Given the description of an element on the screen output the (x, y) to click on. 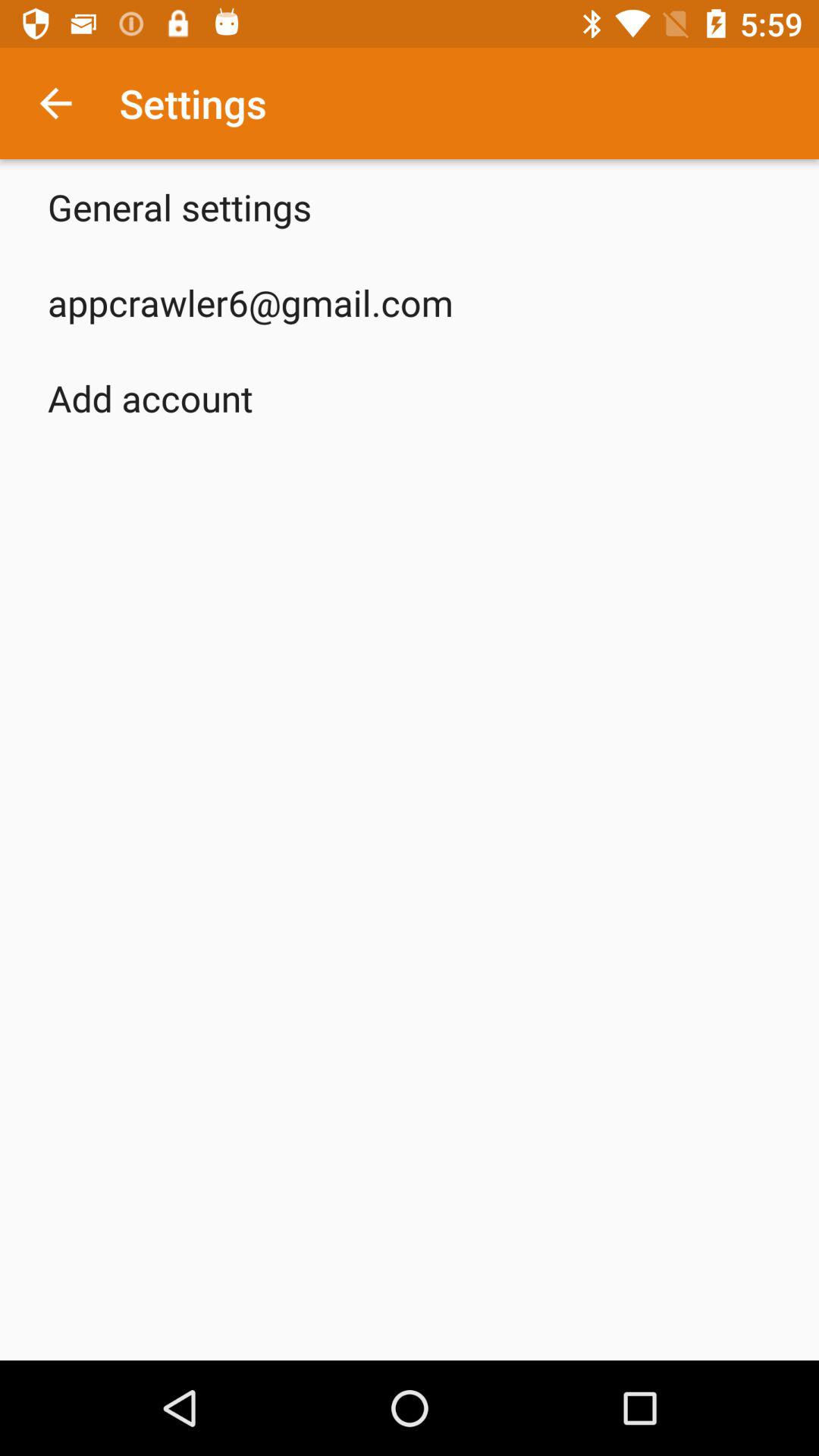
click the app above the general settings icon (55, 103)
